Given the description of an element on the screen output the (x, y) to click on. 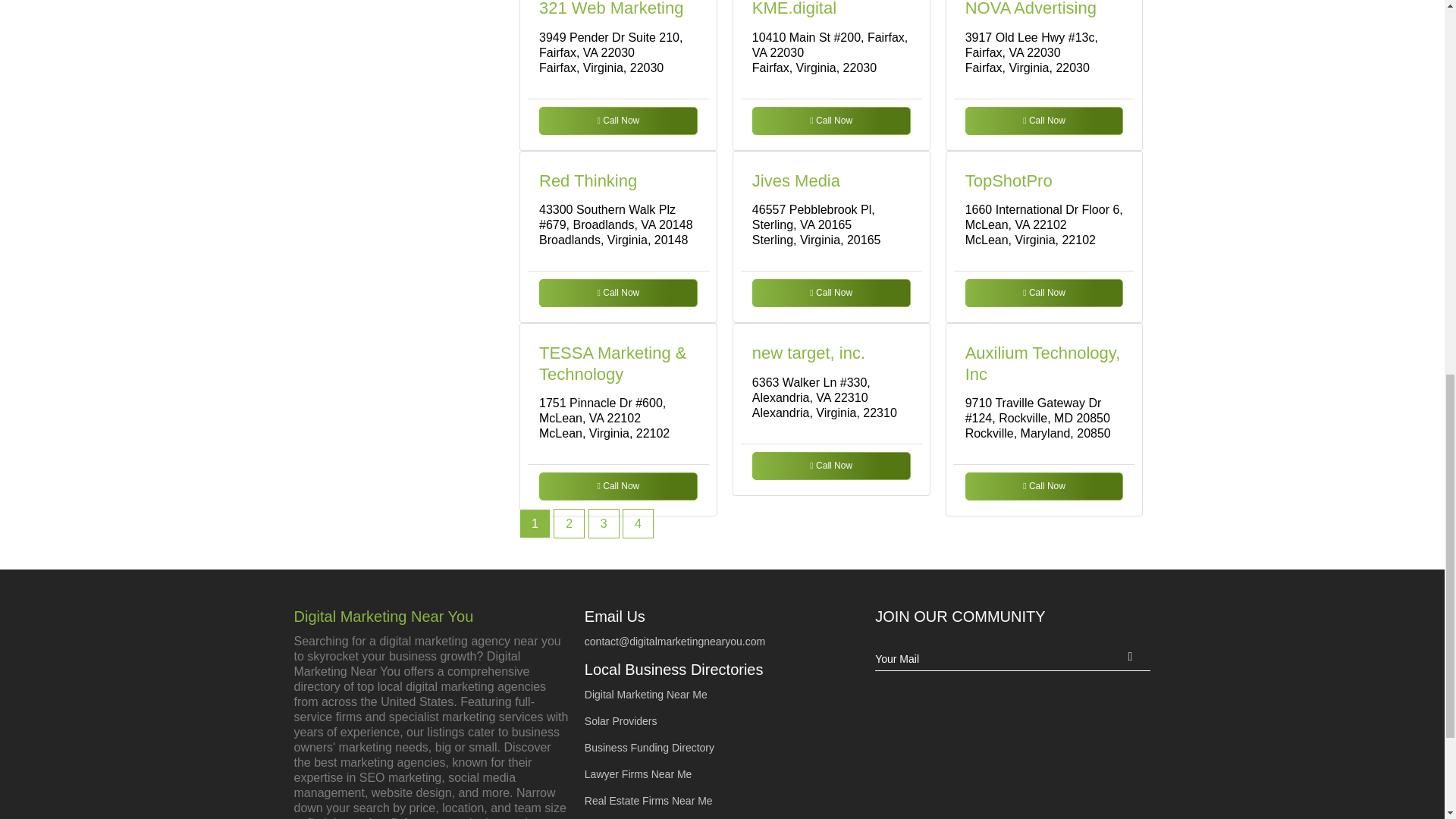
Call Now (617, 486)
NOVA Advertising (1030, 8)
Call Now (1044, 486)
Auxilium Technology, Inc (1043, 363)
Call Now (1044, 120)
Call Now (617, 120)
Red Thinking (587, 180)
Business Funding Directory (649, 747)
321 Web Marketing (610, 8)
Digital Marketing Near Me (646, 694)
Call Now (1044, 293)
TopShotPro (1008, 180)
KME.digital (793, 8)
Call Now (617, 293)
Call Now (831, 465)
